Given the description of an element on the screen output the (x, y) to click on. 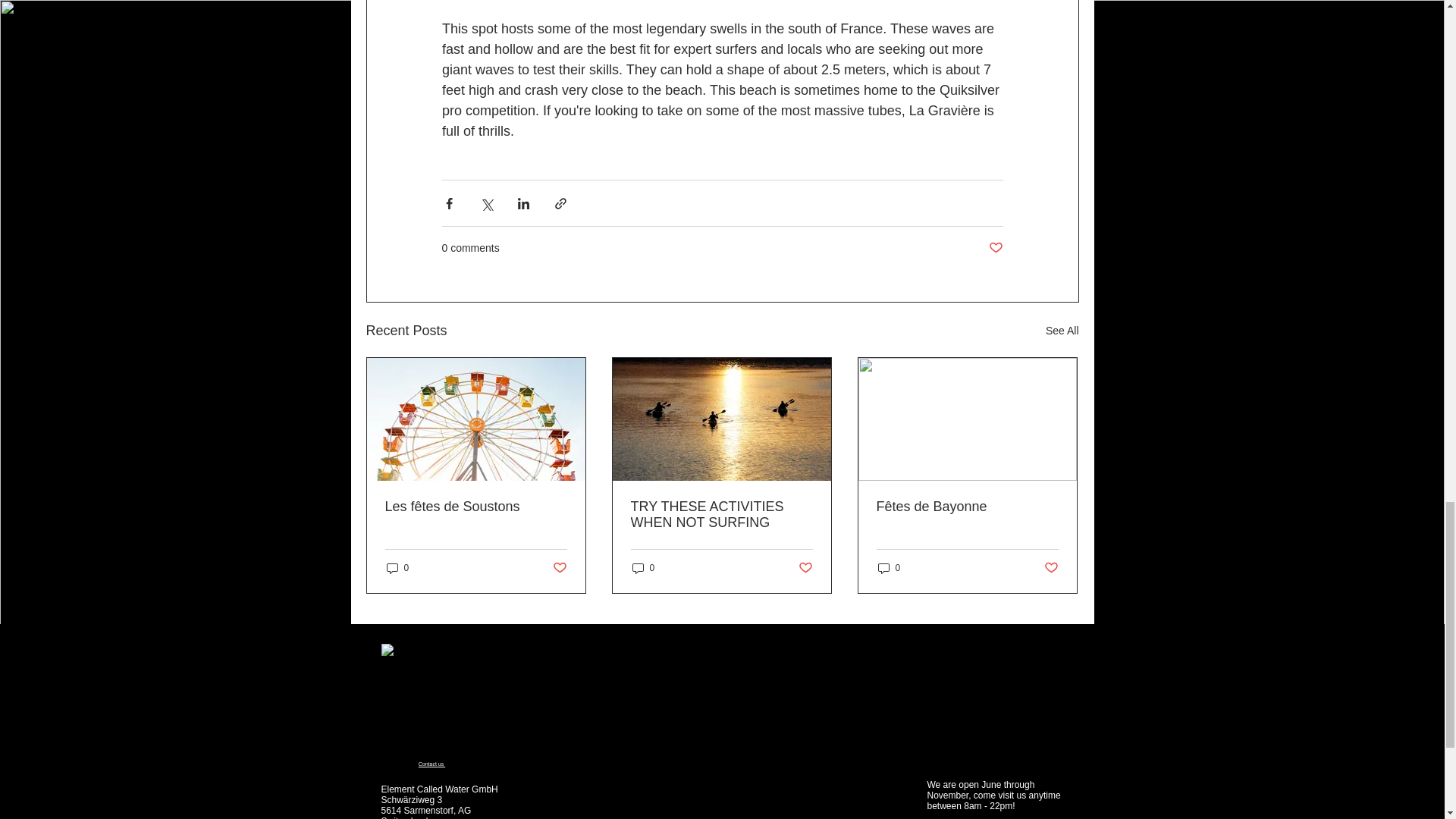
See All (1061, 331)
Post not marked as liked (995, 248)
0 (397, 568)
